Given the description of an element on the screen output the (x, y) to click on. 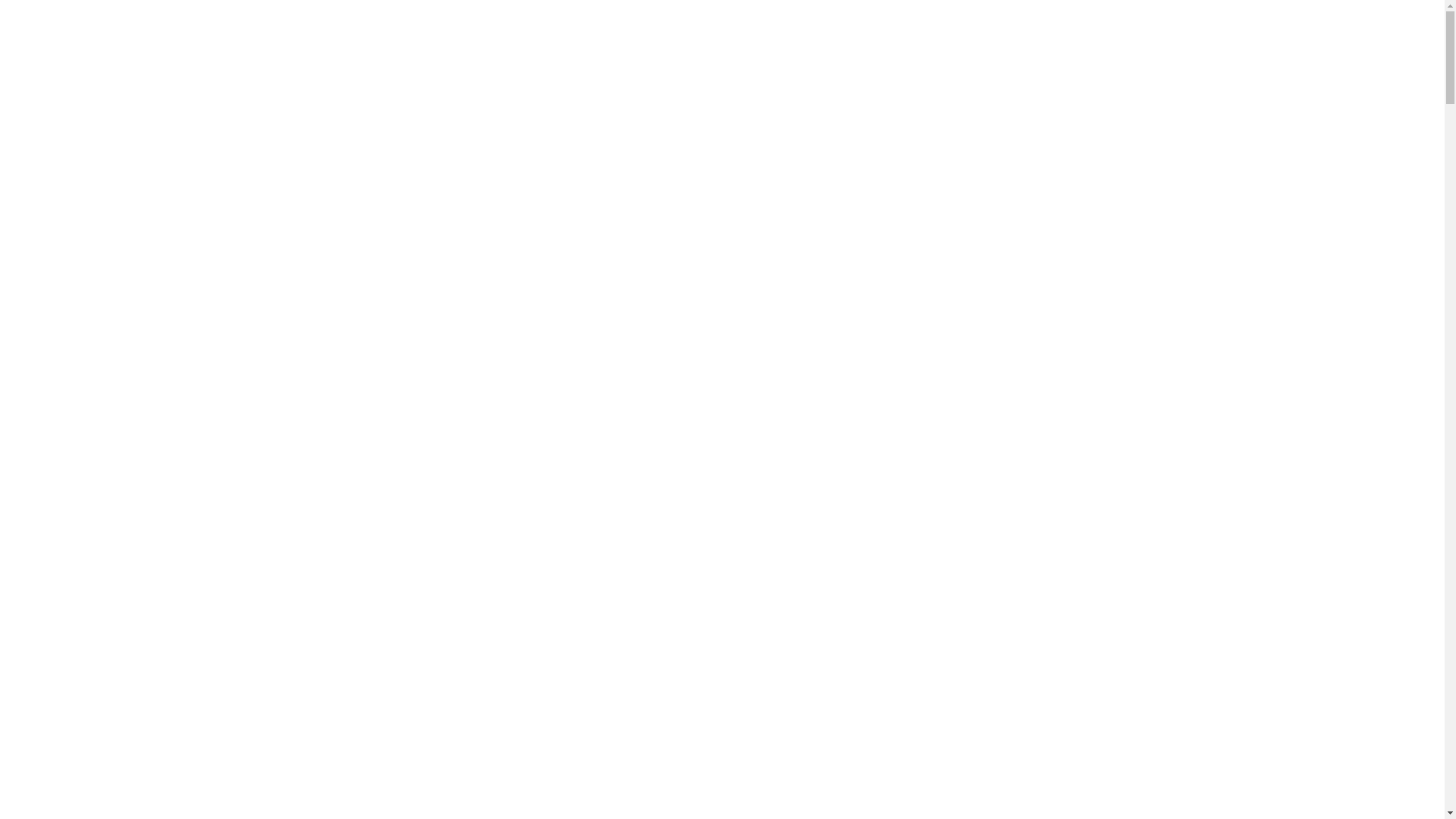
SYNOPSIS Element type: text (201, 21)
DETAILS Element type: text (514, 21)
DIRECTOR Element type: text (346, 21)
CAST & CREW Element type: text (433, 21)
TRAILER Element type: text (273, 21)
Volg ons op Instagram Element type: text (1209, 19)
PARTNERS Element type: text (587, 21)
CONTACT Element type: text (664, 21)
ORDER TICKETS Element type: text (1098, 21)
Volg ons op Facebook Element type: text (1182, 19)
